Given the description of an element on the screen output the (x, y) to click on. 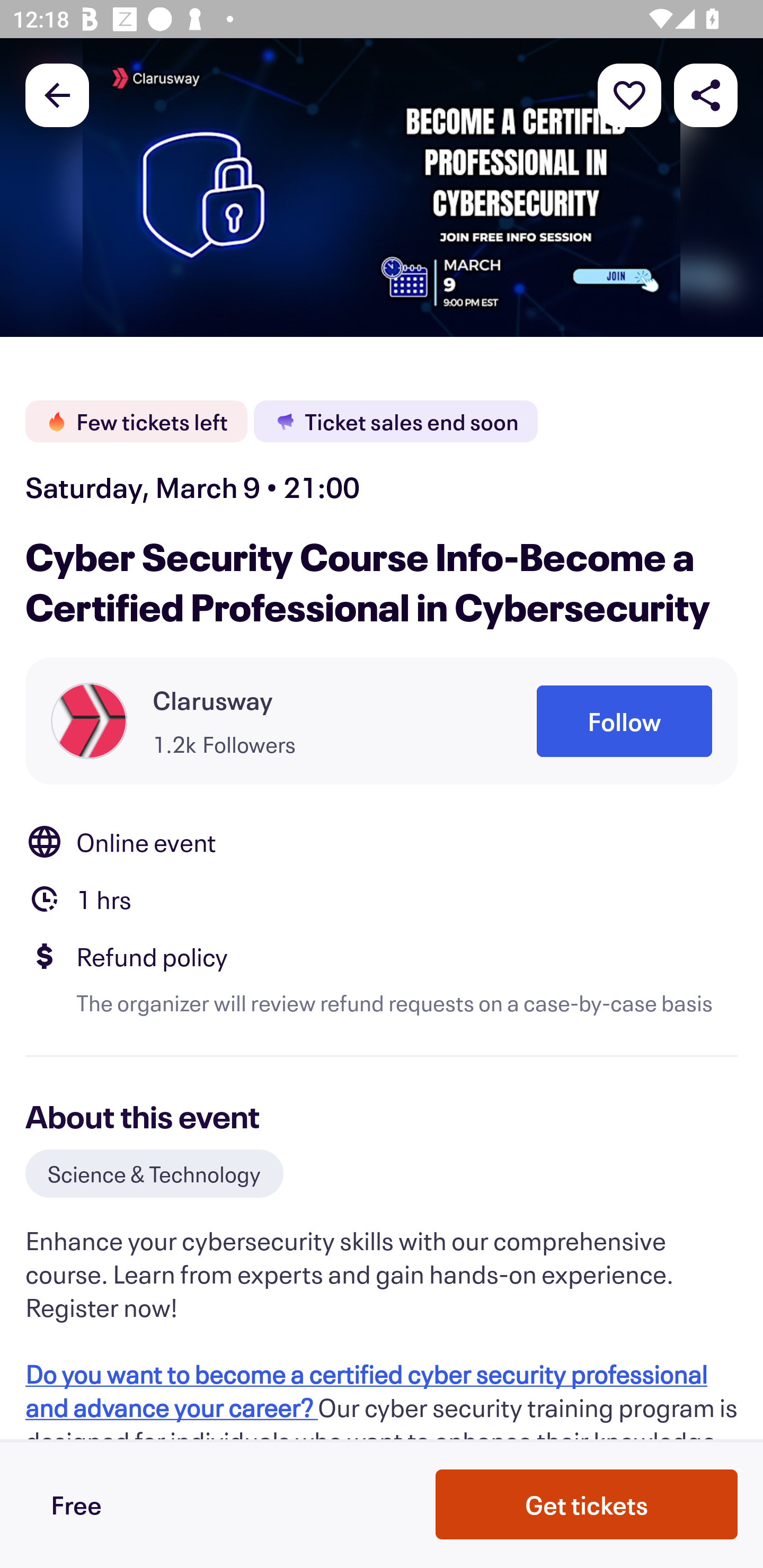
Back (57, 94)
More (629, 94)
Share (705, 94)
Clarusway (212, 699)
Organizer profile picture (89, 720)
Follow (623, 720)
Location Online event (381, 840)
Get tickets (586, 1504)
